Given the description of an element on the screen output the (x, y) to click on. 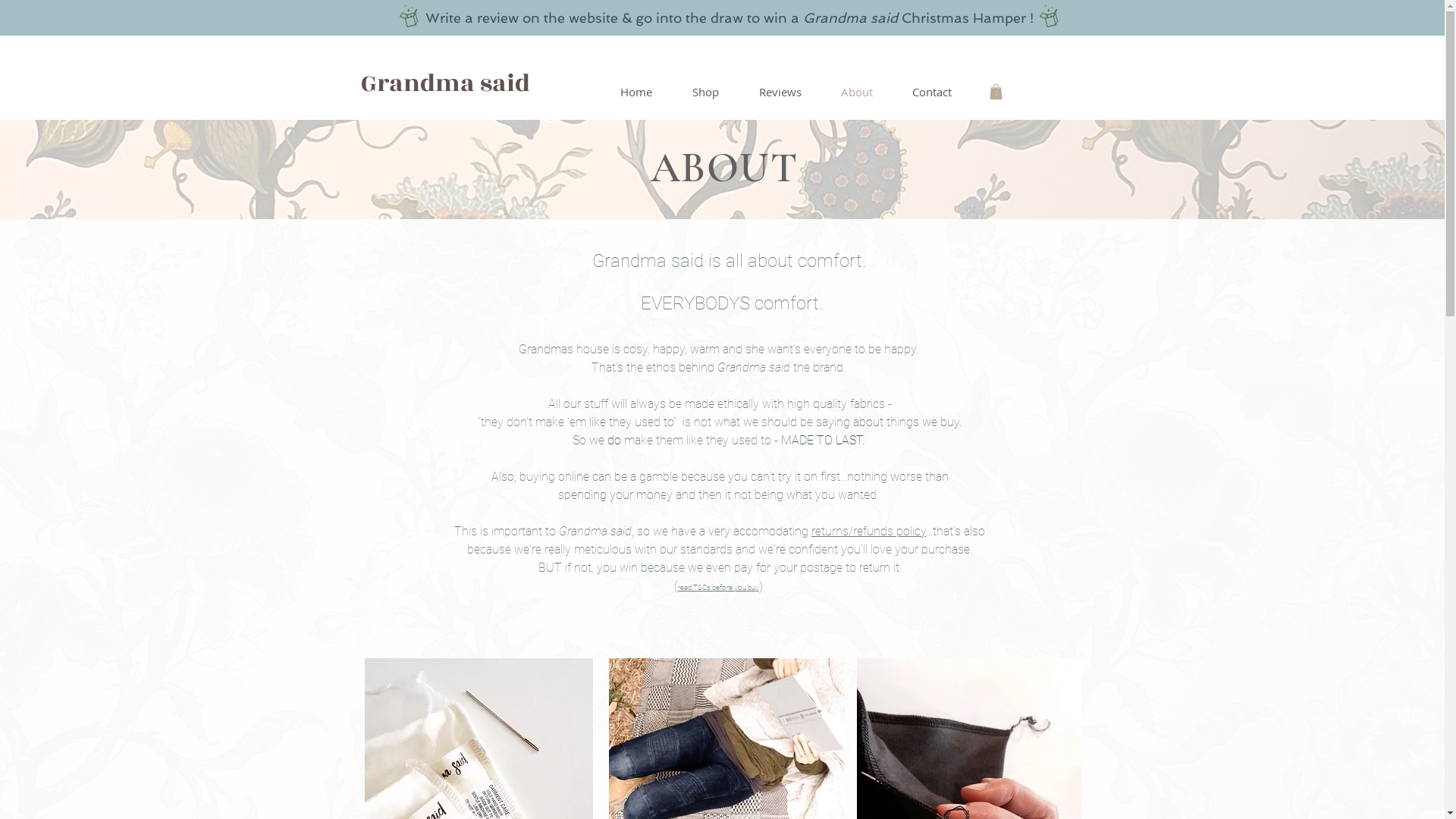
read T&Cs before you buy Element type: text (718, 585)
About Element type: text (855, 91)
Home Element type: text (636, 91)
Grandma said Element type: text (445, 81)
Reviews Element type: text (779, 91)
Contact Element type: text (930, 91)
Shop Element type: text (704, 91)
0 Element type: text (994, 91)
returns/refunds policy Element type: text (868, 531)
